Given the description of an element on the screen output the (x, y) to click on. 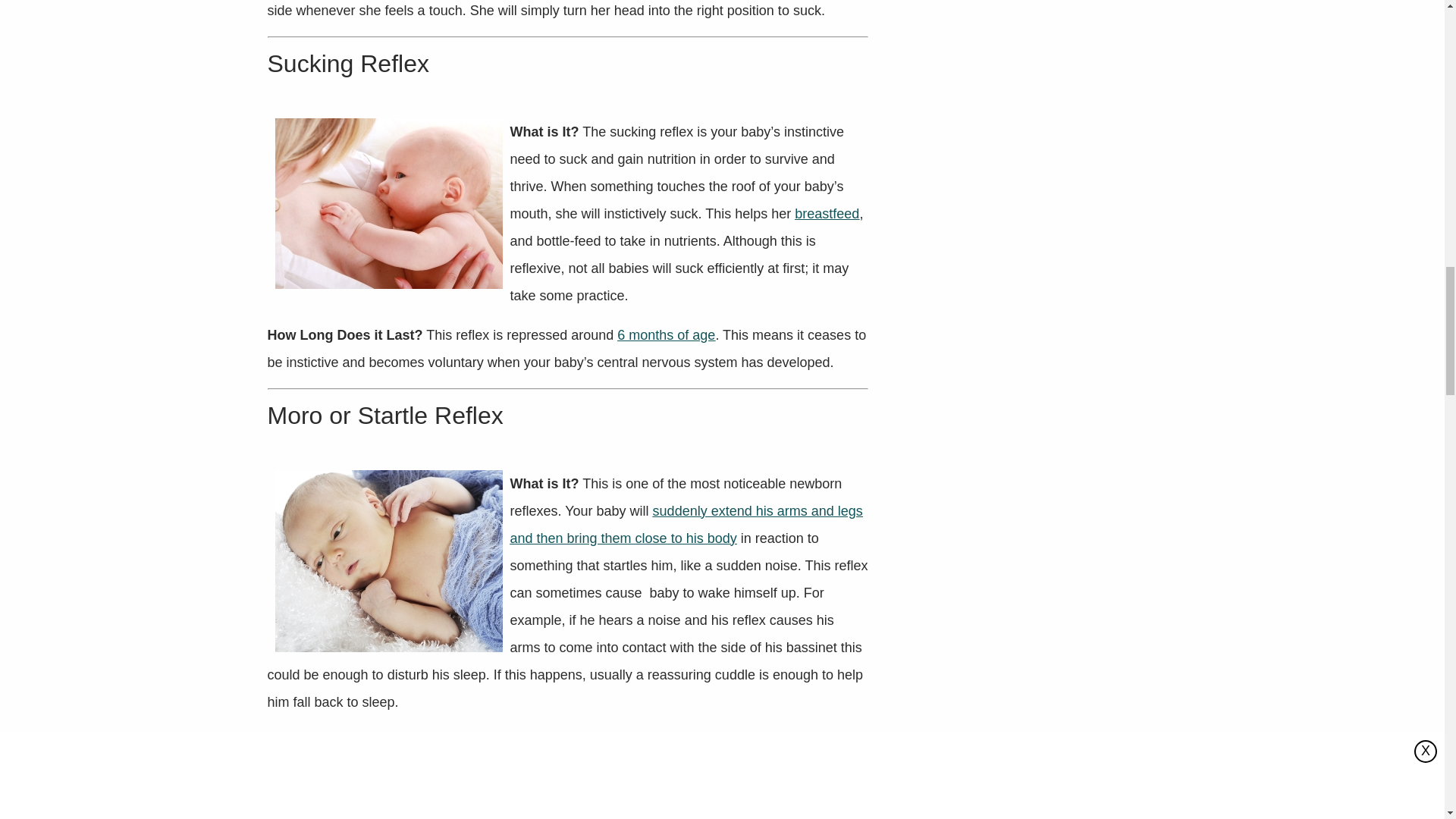
breastfeed (826, 213)
6 months of age (665, 335)
3rd party ad content (566, 773)
Startle Reflex - Newborn Reflexes (388, 560)
Sucking Reflex - Newborn Reflexes (388, 203)
